Given the description of an element on the screen output the (x, y) to click on. 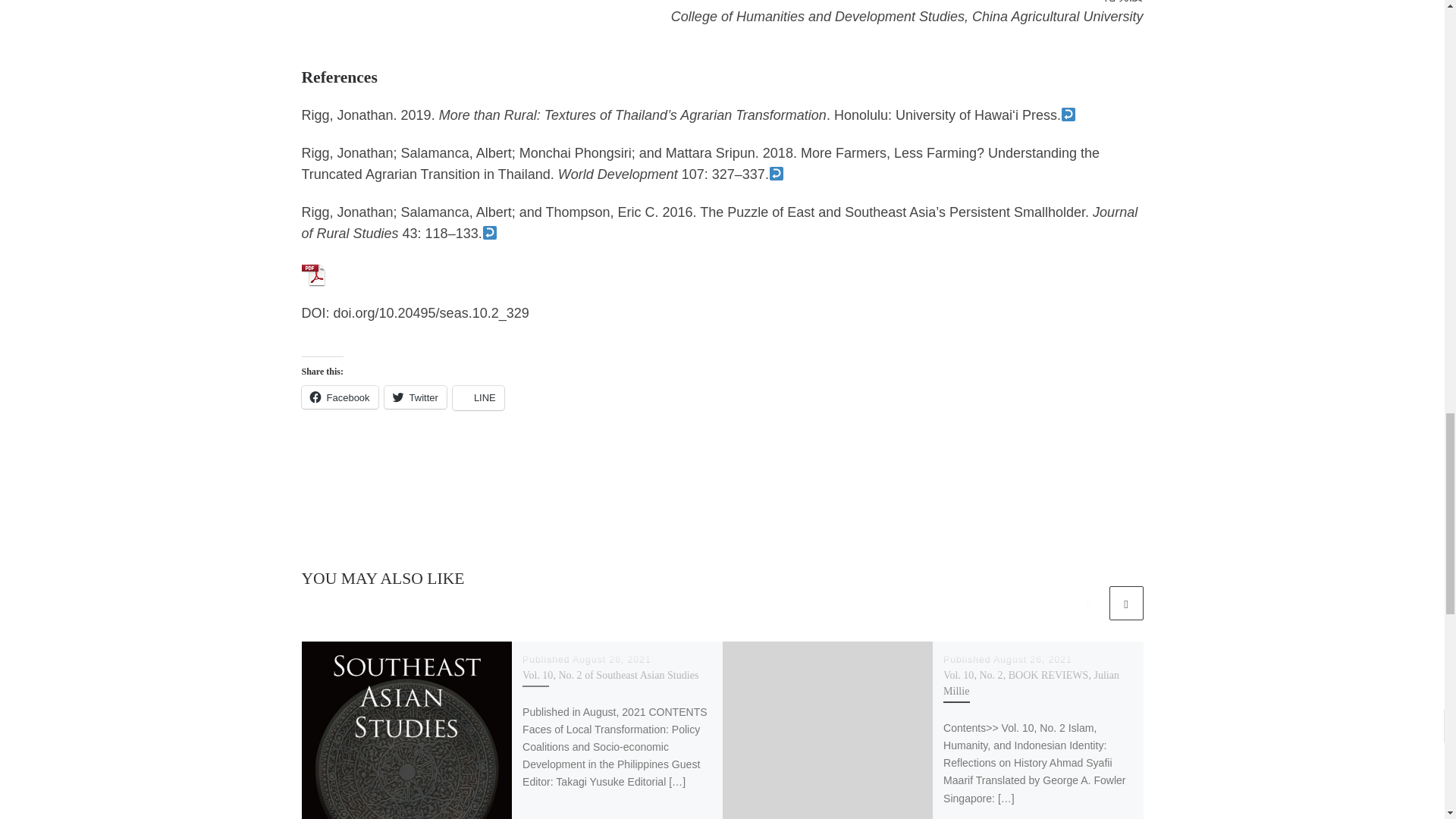
Next related articles (1125, 602)
Previous related articles (1088, 602)
Click to share on Twitter (415, 396)
Click to share on LINE (477, 397)
Click to share on Facebook (339, 396)
